Given the description of an element on the screen output the (x, y) to click on. 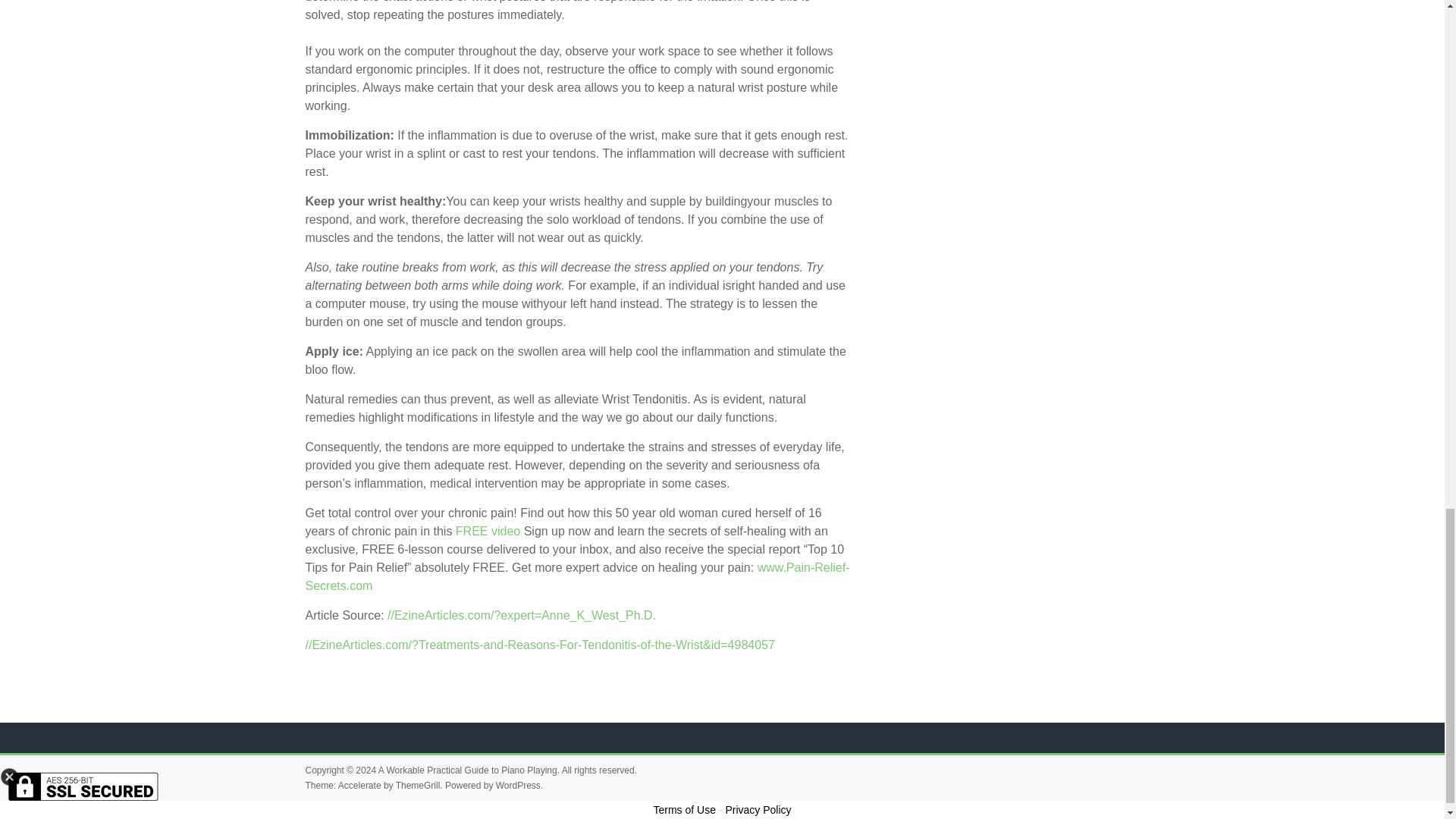
WordPress (518, 785)
Accelerate (359, 785)
A Workable Practical Guide to Piano Playing (467, 769)
FREE video (487, 530)
www.Pain-Relief-Secrets.com (576, 576)
